Given the description of an element on the screen output the (x, y) to click on. 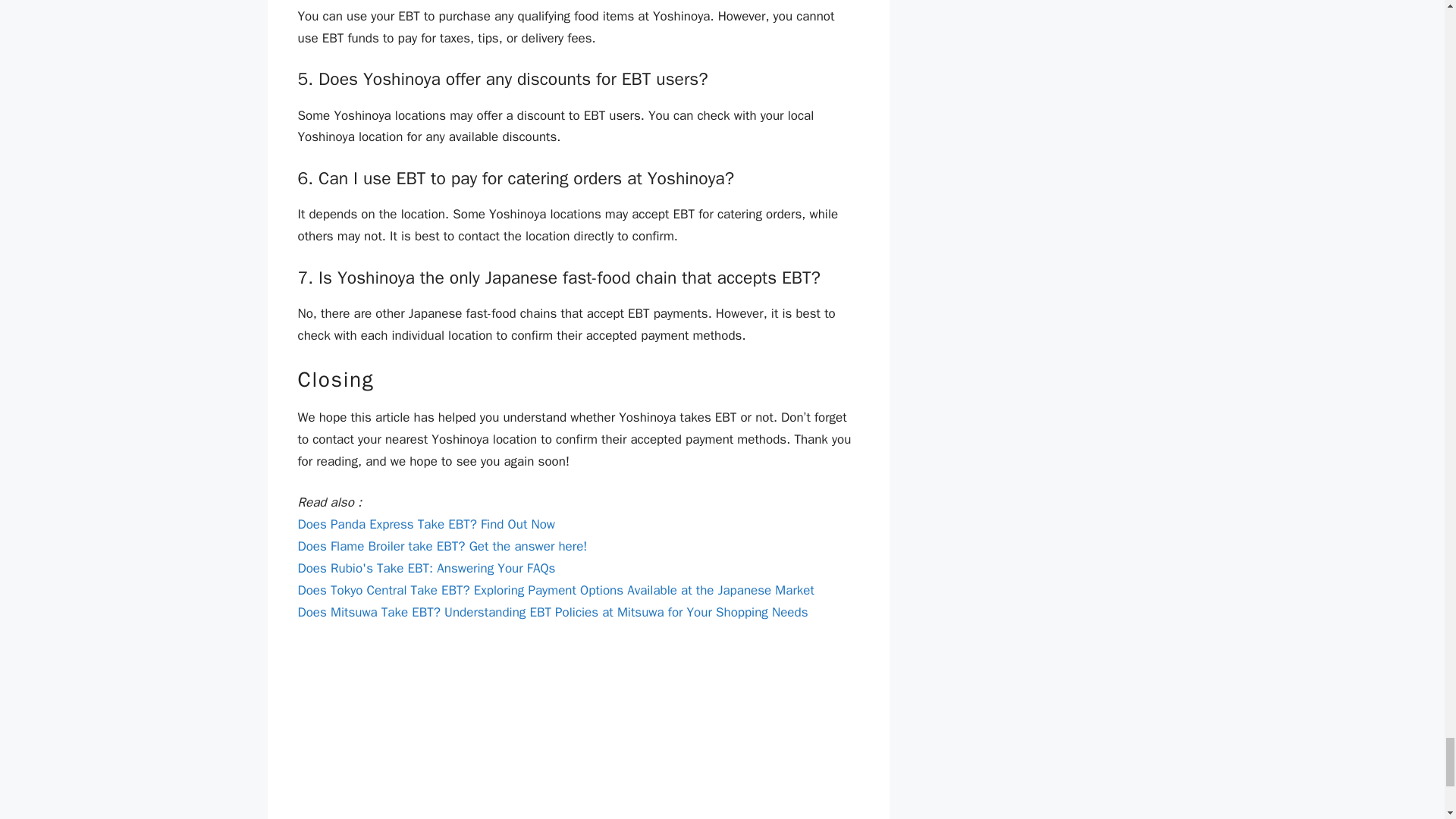
Does Rubio's Take EBT: Answering Your FAQs (425, 568)
Does Panda Express Take EBT? Find Out Now (425, 524)
Does Flame Broiler take EBT? Get the answer here! (441, 546)
